Given the description of an element on the screen output the (x, y) to click on. 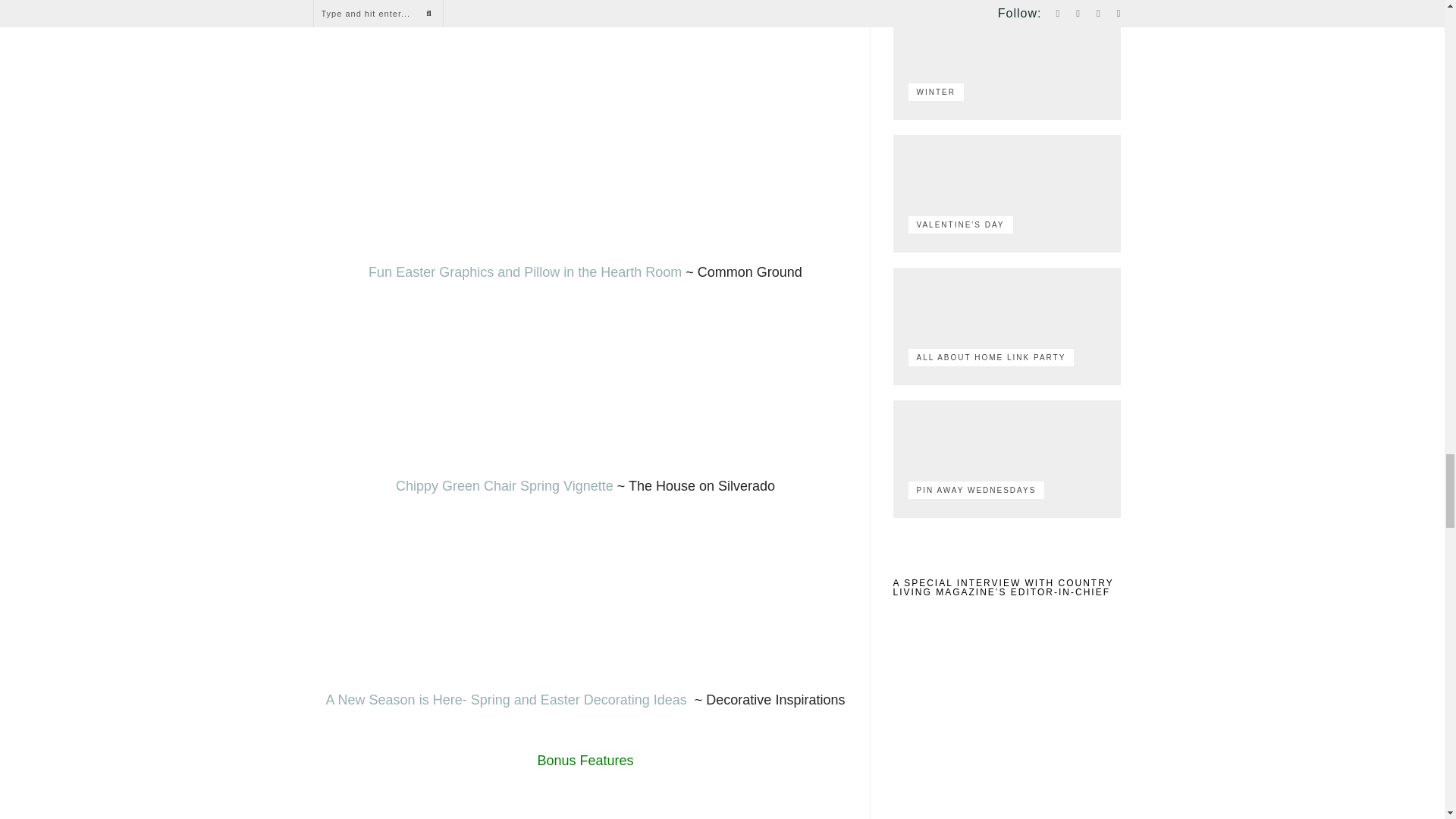
Fun Easter Graphics and Pillow in the Hearth Room (524, 272)
Chippy Green Chair Spring Vignette (504, 485)
A New Season is Here- Spring and Easter Decorating Ideas (506, 699)
